Given the description of an element on the screen output the (x, y) to click on. 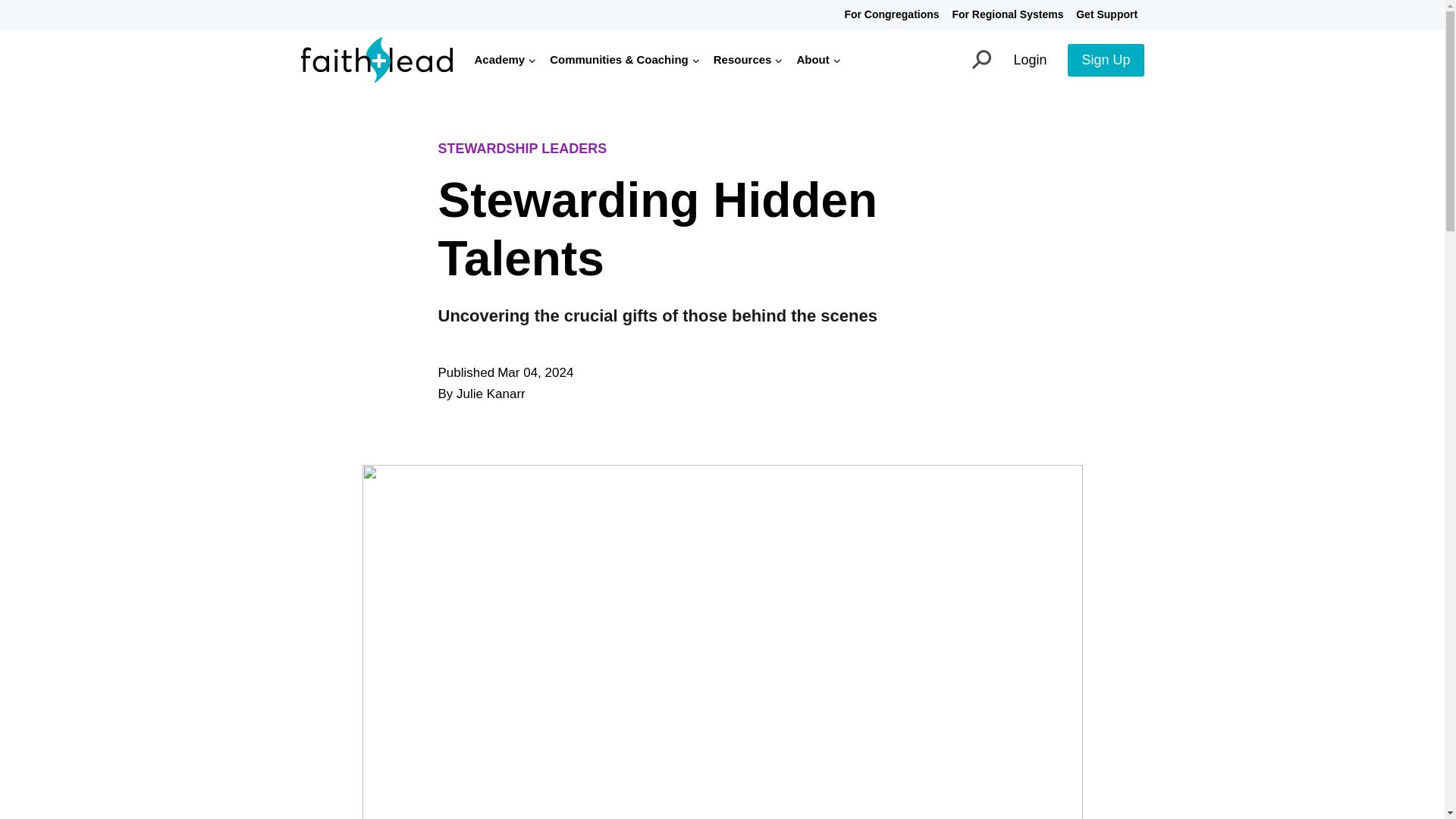
Get Support (1107, 14)
Resources (748, 59)
For Regional Systems (1007, 14)
For Congregations (891, 14)
Academy (505, 59)
